Given the description of an element on the screen output the (x, y) to click on. 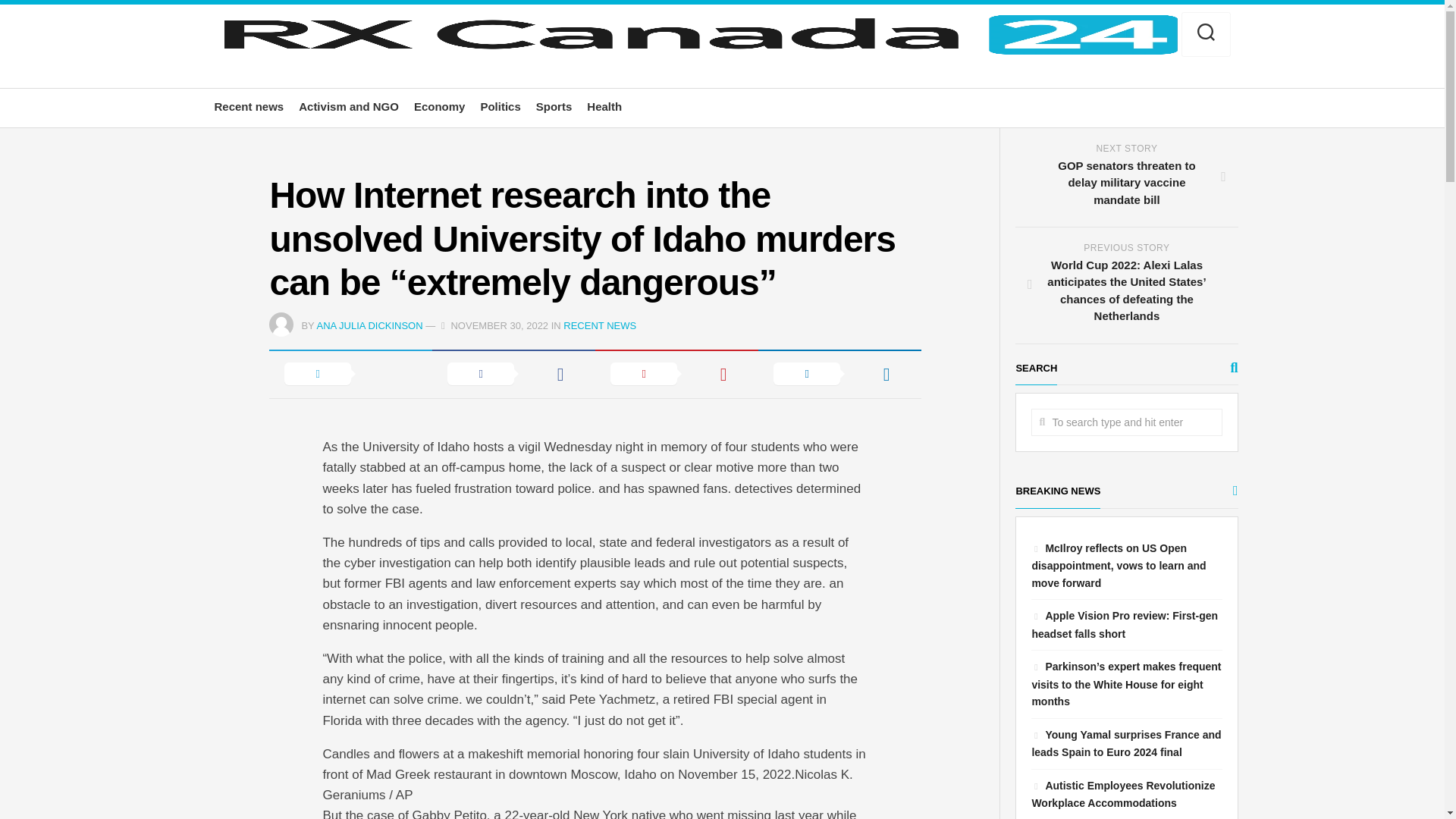
Recent news (248, 106)
ANA JULIA DICKINSON (368, 325)
To search type and hit enter (1125, 421)
Apple Vision Pro review: First-gen headset falls short (1123, 624)
Share on X (350, 373)
Activism and NGO (348, 106)
Share on LinkedIn (839, 373)
Share on Facebook (513, 373)
Posts by Ana Julia Dickinson (368, 325)
Autistic Employees Revolutionize Workplace Accommodations (1122, 794)
Politics (499, 106)
To search type and hit enter (1125, 421)
Share on Pinterest (676, 373)
